Given the description of an element on the screen output the (x, y) to click on. 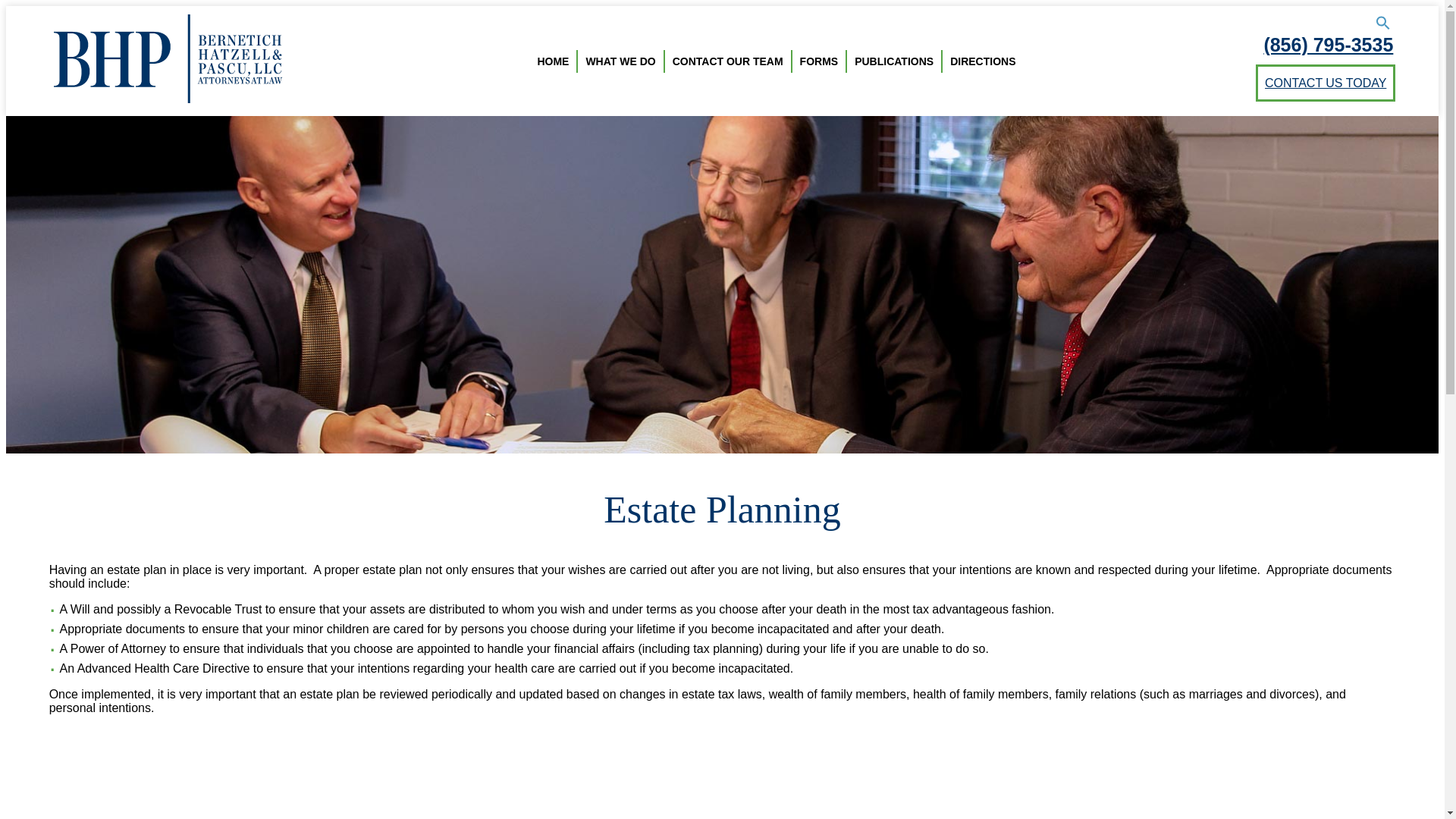
Bernetich, Hatzell, Pascu, LLC (136, 129)
WHAT WE DO (620, 60)
HOME (552, 60)
